Given the description of an element on the screen output the (x, y) to click on. 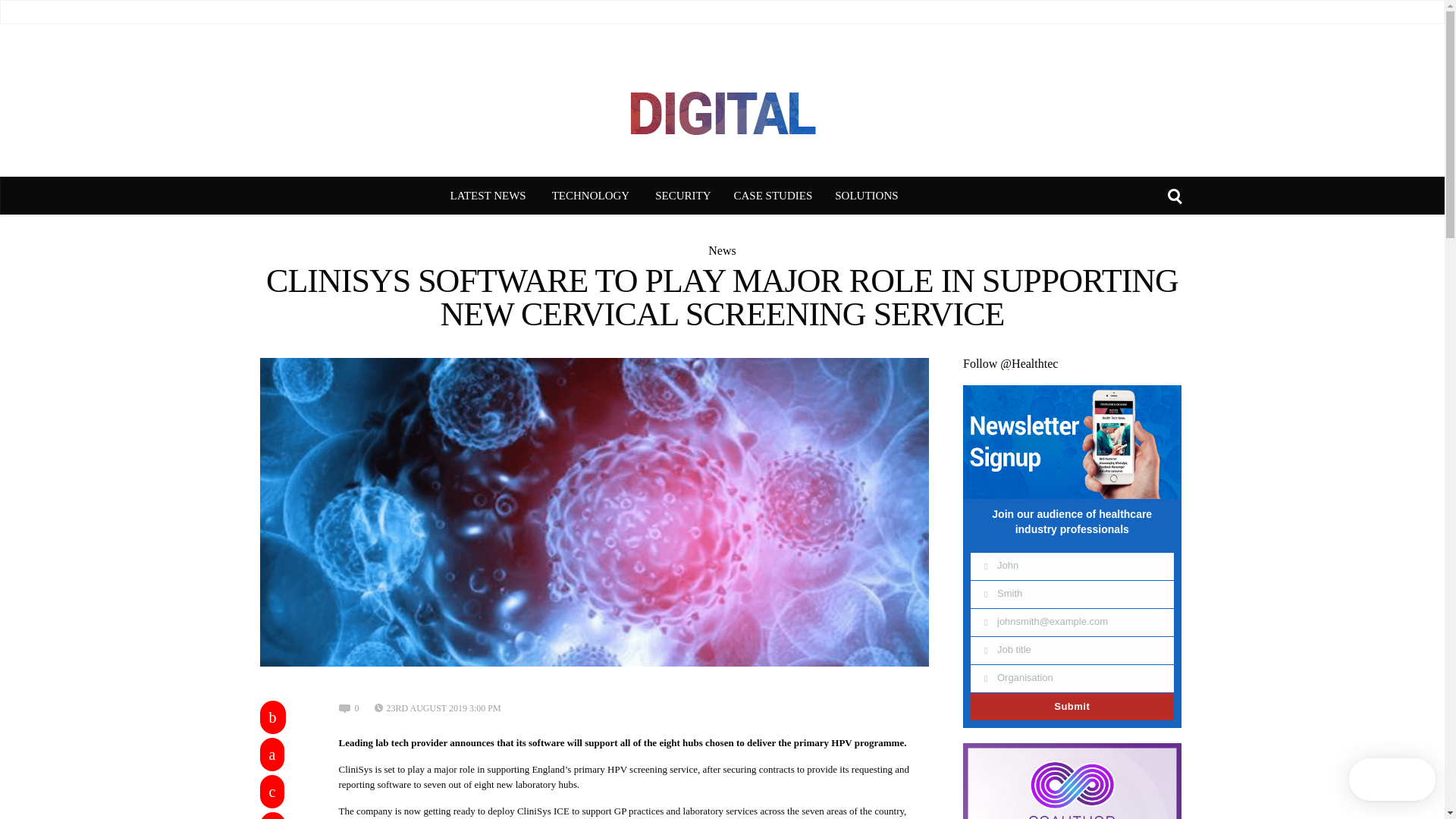
LATEST NEWS (488, 195)
TECHNOLOGY (591, 195)
ADVERTISE (869, 11)
TV (556, 11)
TECHNOLOGY (591, 195)
AWARDS (668, 11)
MAGAZINE (604, 11)
LATEST NEWS (488, 195)
NEWSLETTER (738, 11)
SUBMIT (805, 11)
